Given the description of an element on the screen output the (x, y) to click on. 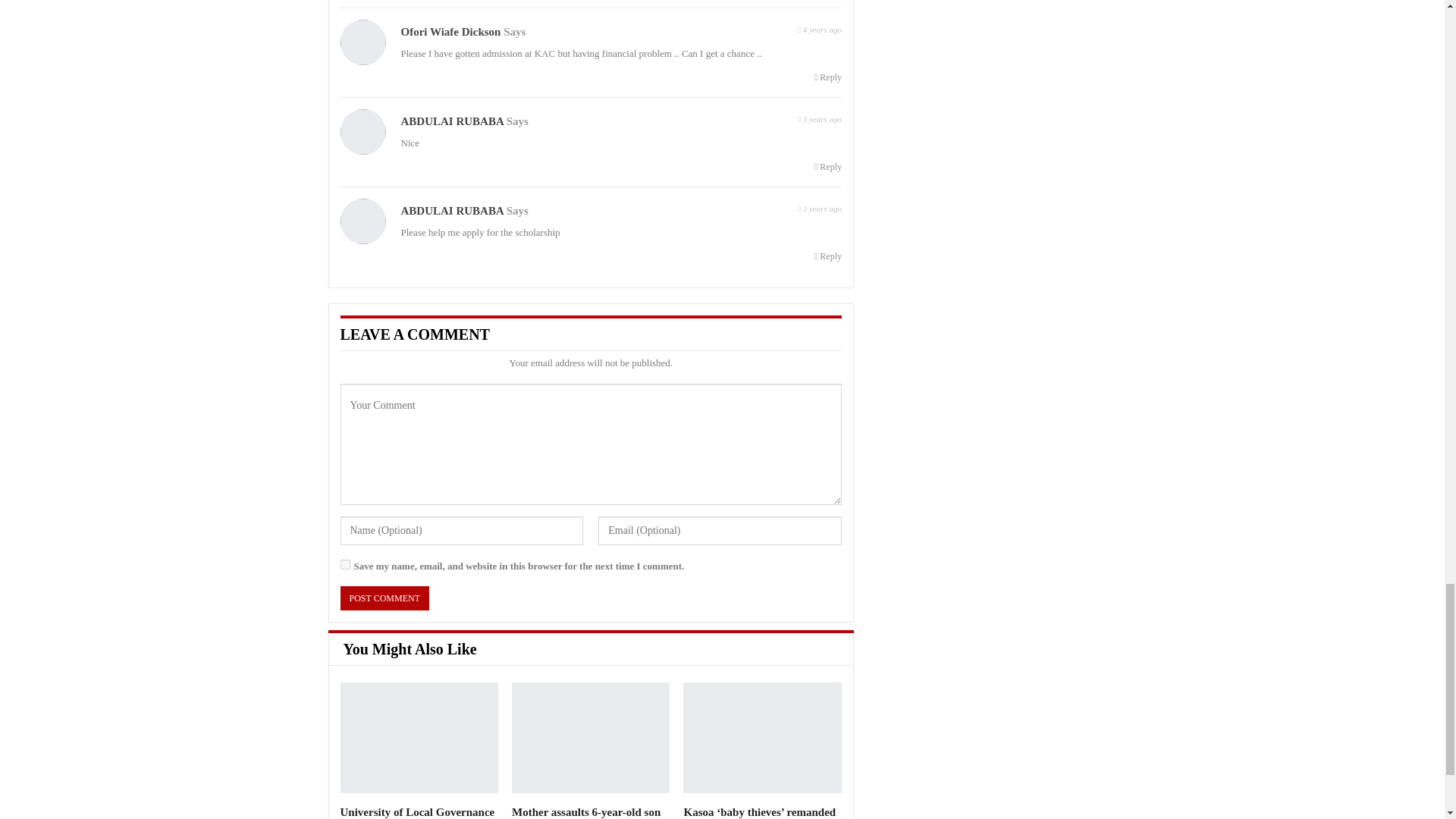
Friday, March 12, 2021, 12:22 pm (819, 207)
Post Comment (383, 598)
Tuesday, January 12, 2021, 5:25 pm (819, 27)
Reply (827, 77)
Ofori Wiafe Dickson (450, 31)
yes (344, 564)
Friday, March 12, 2021, 12:17 pm (819, 117)
